Given the description of an element on the screen output the (x, y) to click on. 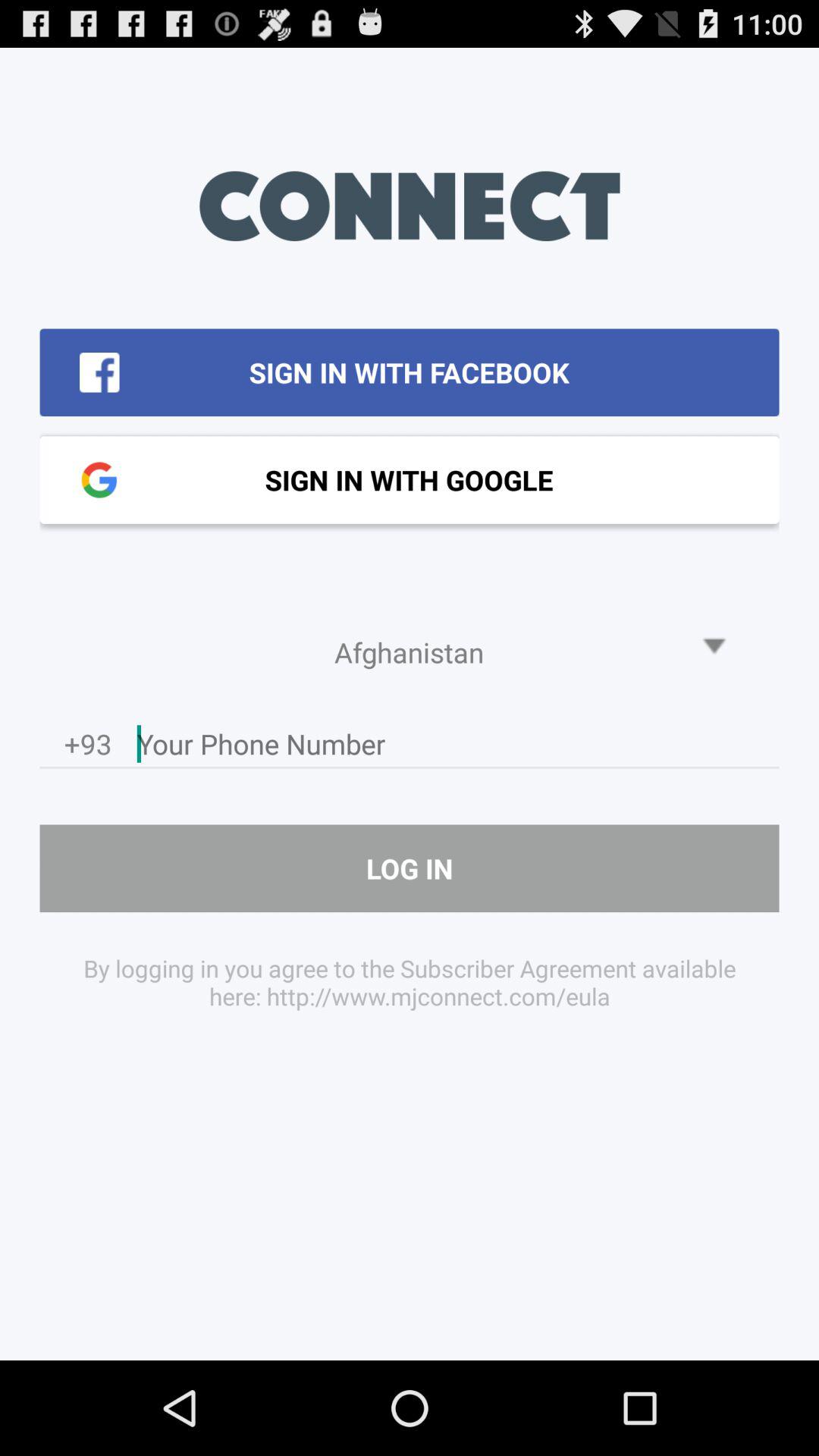
turn on the icon to the right of +93 item (458, 747)
